Given the description of an element on the screen output the (x, y) to click on. 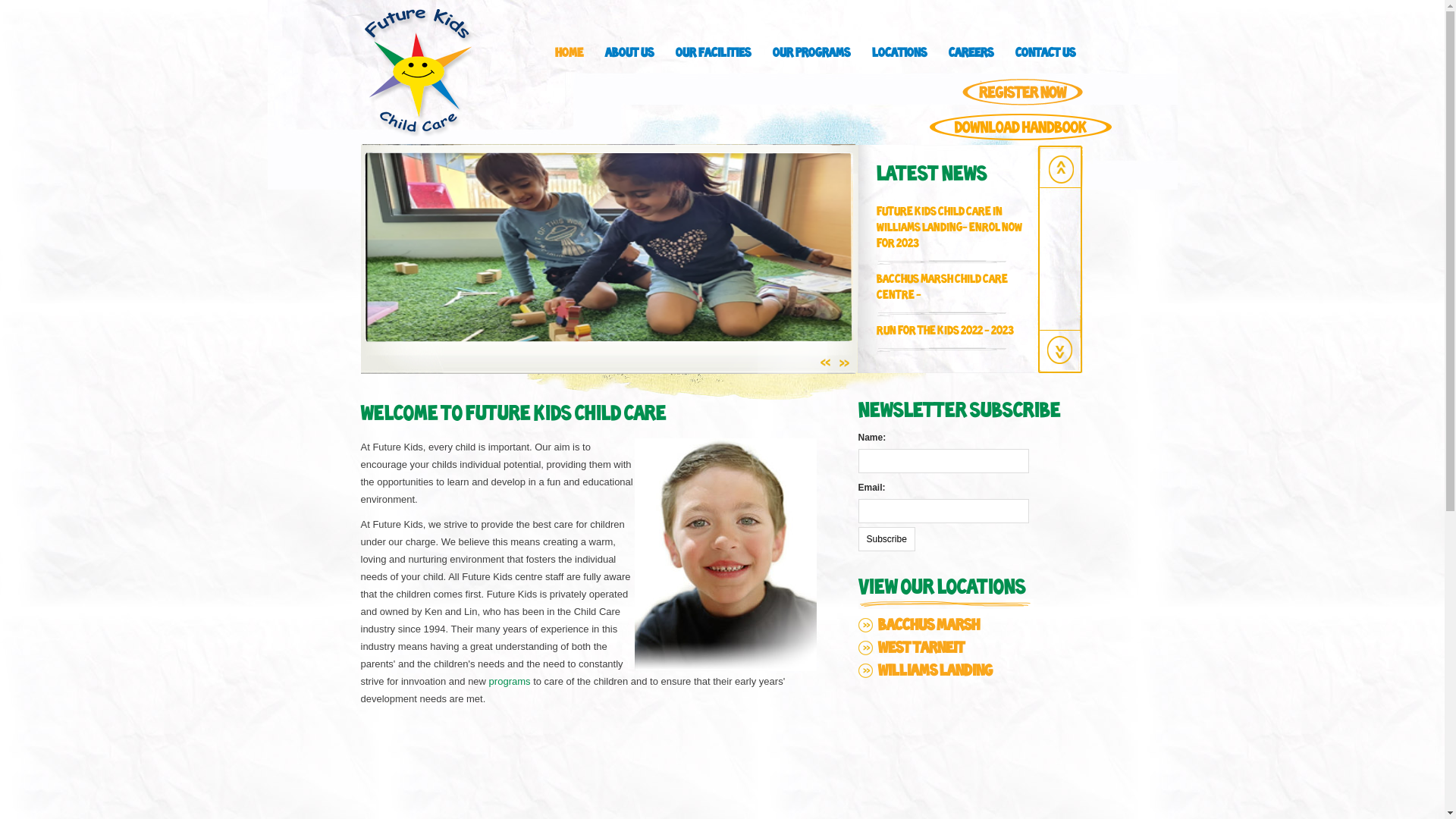
Home Element type: text (569, 57)
Locations Element type: text (898, 57)
BACCHUS MARSH CHILD CARE CENTRE - Element type: text (941, 287)
Next Element type: hover (1062, 168)
Previous Element type: hover (1060, 349)
Careers Element type: text (969, 57)
Our facilities Element type: text (712, 57)
Subscribe Element type: text (886, 539)
Download Handbook Element type: hover (1020, 128)
Register Now Element type: hover (1021, 93)
Contact Us Element type: text (1044, 57)
Childcare Melbourne Element type: hover (724, 554)
programs Element type: text (509, 681)
About Us Element type: text (629, 57)
Our Programs Element type: text (810, 57)
WILLIAMS LANDING Element type: text (935, 671)
RUN FOR THE KIDS 2022 - 2023 Element type: text (944, 330)
BACCHUS MARSH Element type: text (928, 625)
WEST TARNEIT Element type: text (921, 648)
